Given the description of an element on the screen output the (x, y) to click on. 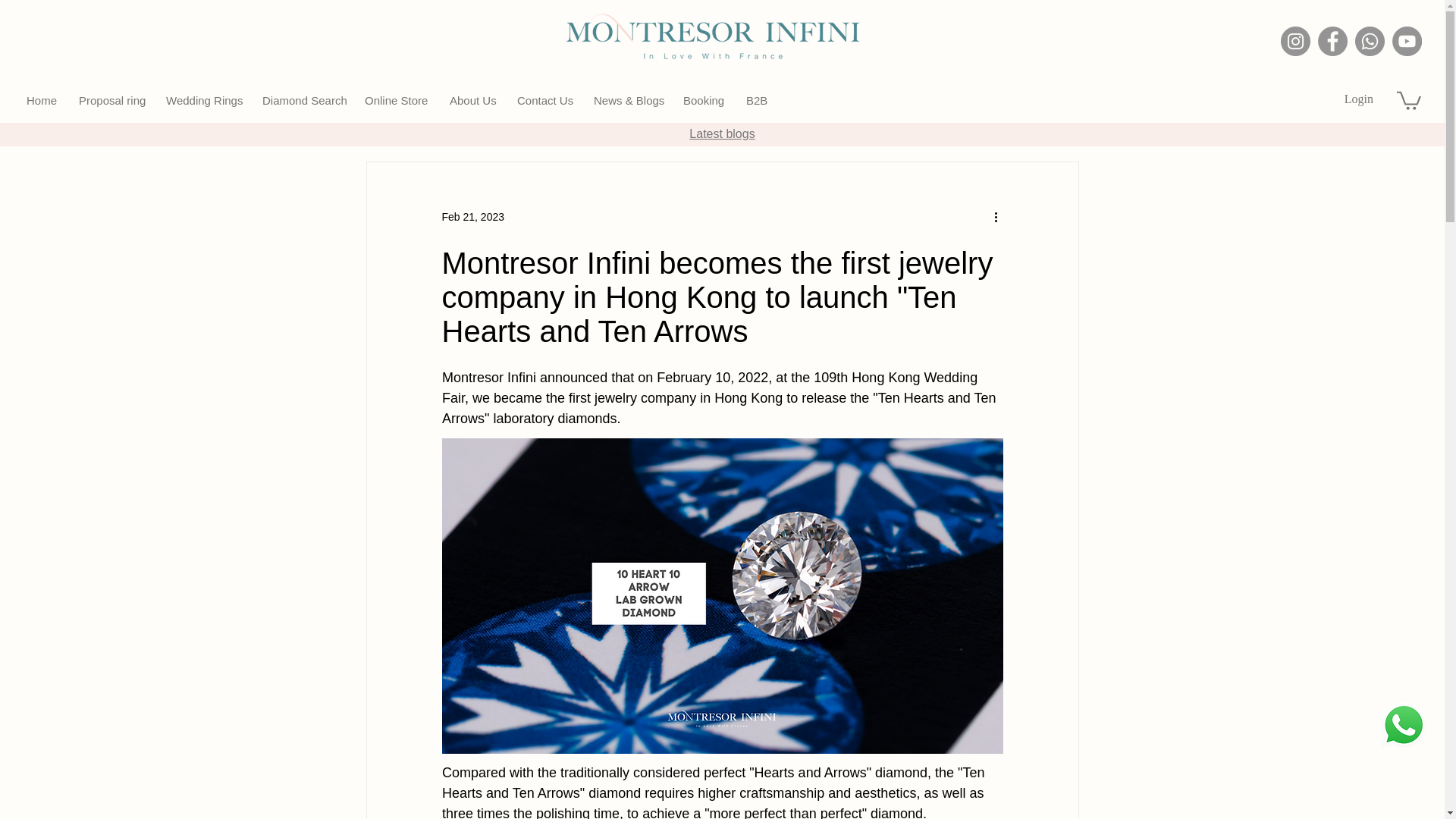
Contact Us (543, 100)
About Us (471, 100)
Feb 21, 2023 (472, 216)
Proposal ring (110, 100)
Online Store (395, 100)
Booking (703, 100)
Wedding Rings (202, 100)
Home (40, 100)
Diamond Search (301, 100)
